Given the description of an element on the screen output the (x, y) to click on. 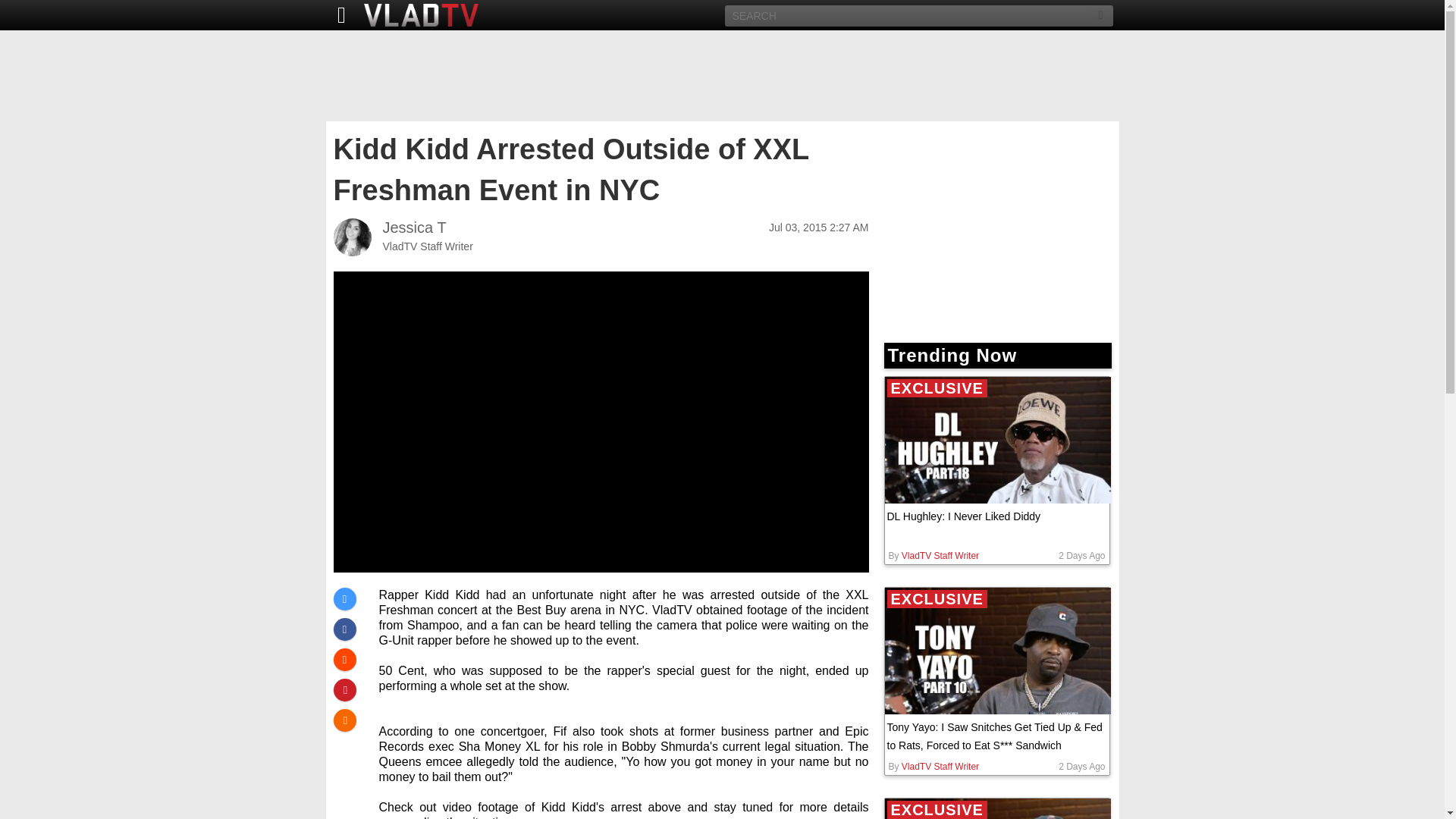
Back To Homepage (337, 15)
DL Hughley: I Never Liked Diddy (995, 516)
Icon: Post To Pinterest (344, 689)
EXCLUSIVE (995, 439)
Icon: Email Link To Article (344, 720)
Icon: Post To Reddit (344, 659)
Icon: Post To Facebook (344, 629)
Search Articles (1101, 14)
Icon: Post To Twitter (344, 599)
